Given the description of an element on the screen output the (x, y) to click on. 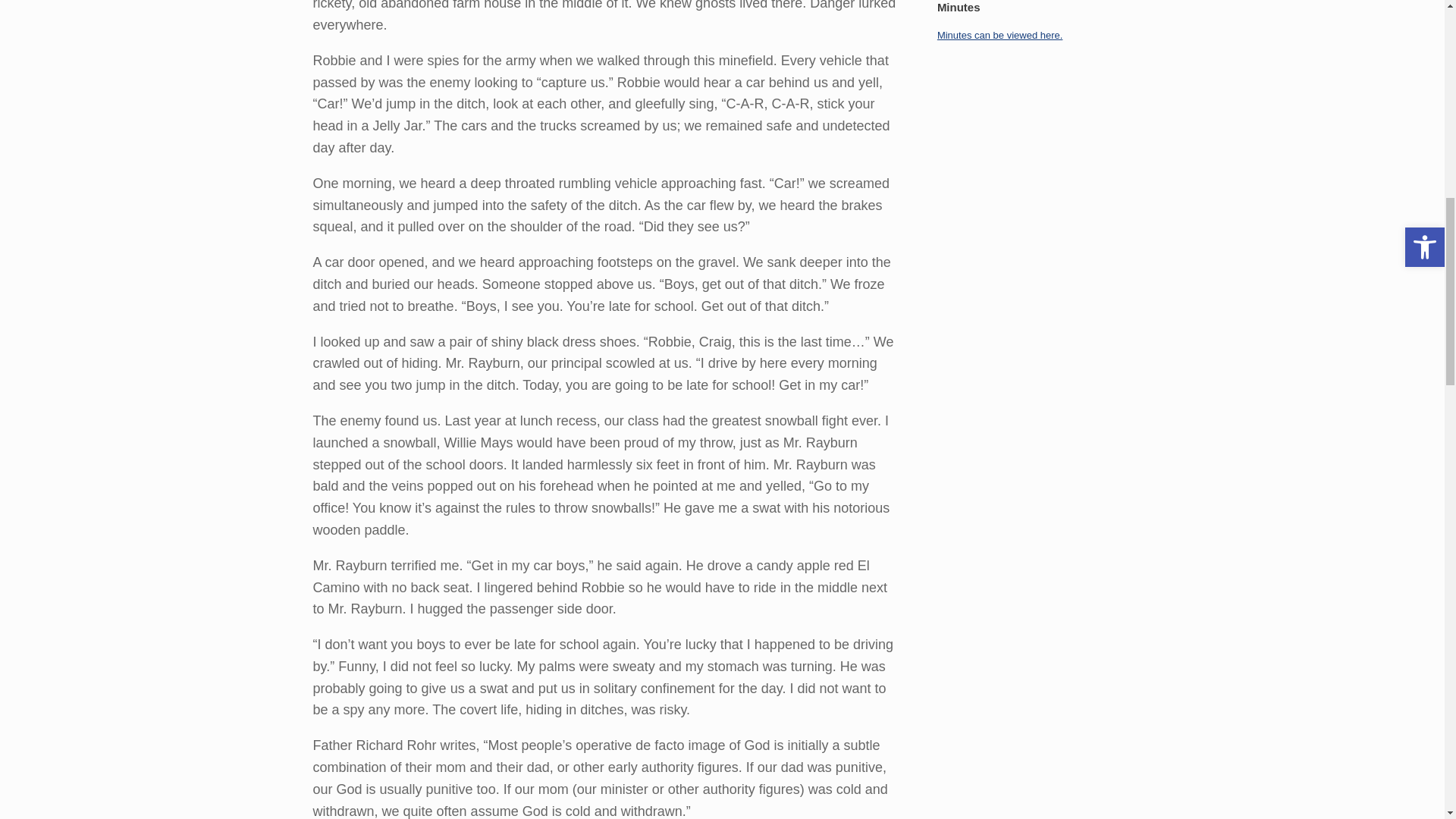
Minutes can be viewed here. (999, 34)
